Given the description of an element on the screen output the (x, y) to click on. 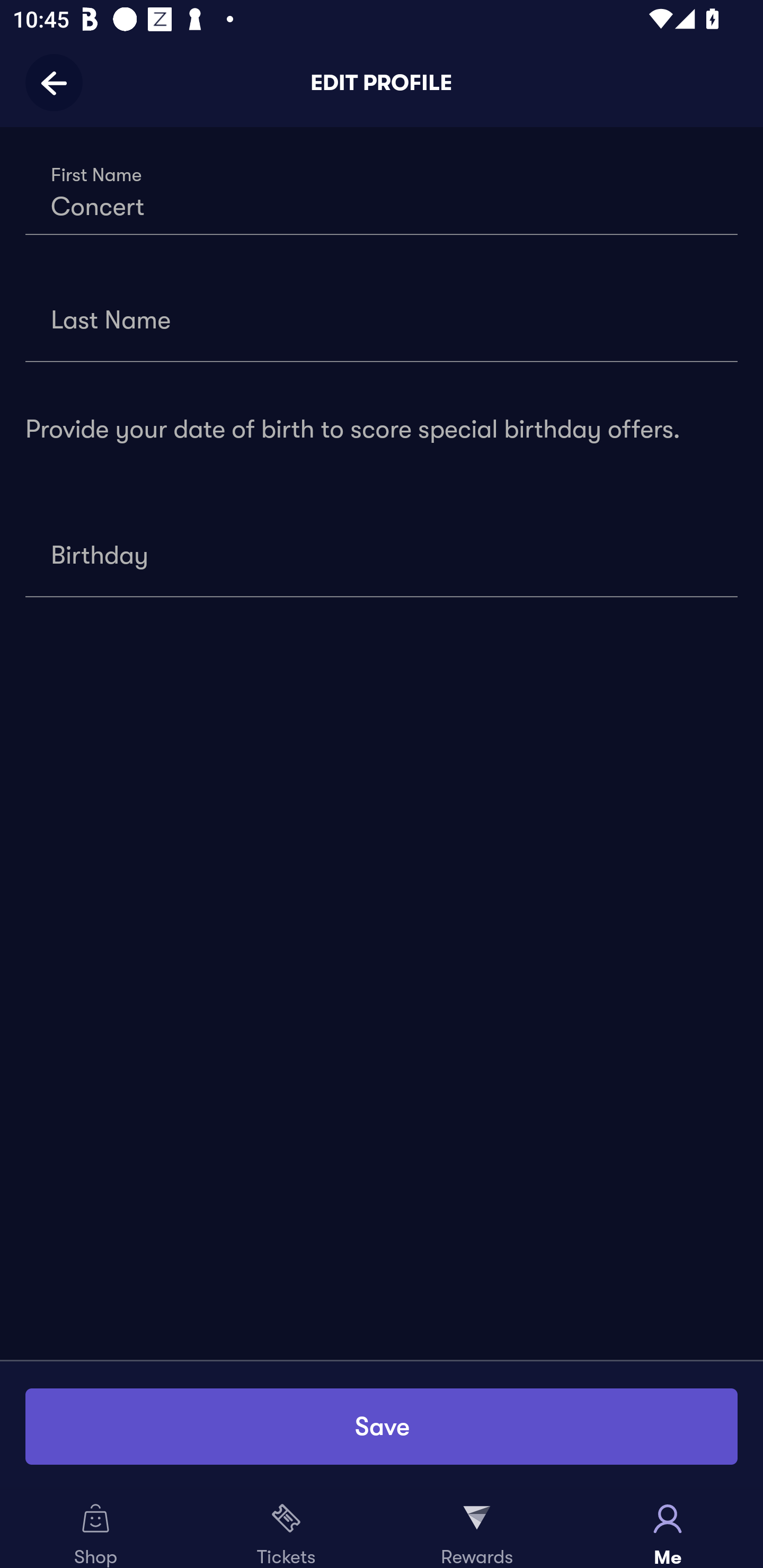
Back (60, 82)
Concert (381, 190)
  (381, 317)
  (381, 552)
Save (381, 1425)
Shop (95, 1529)
Tickets (285, 1529)
Rewards (476, 1529)
Me (667, 1529)
